Given the description of an element on the screen output the (x, y) to click on. 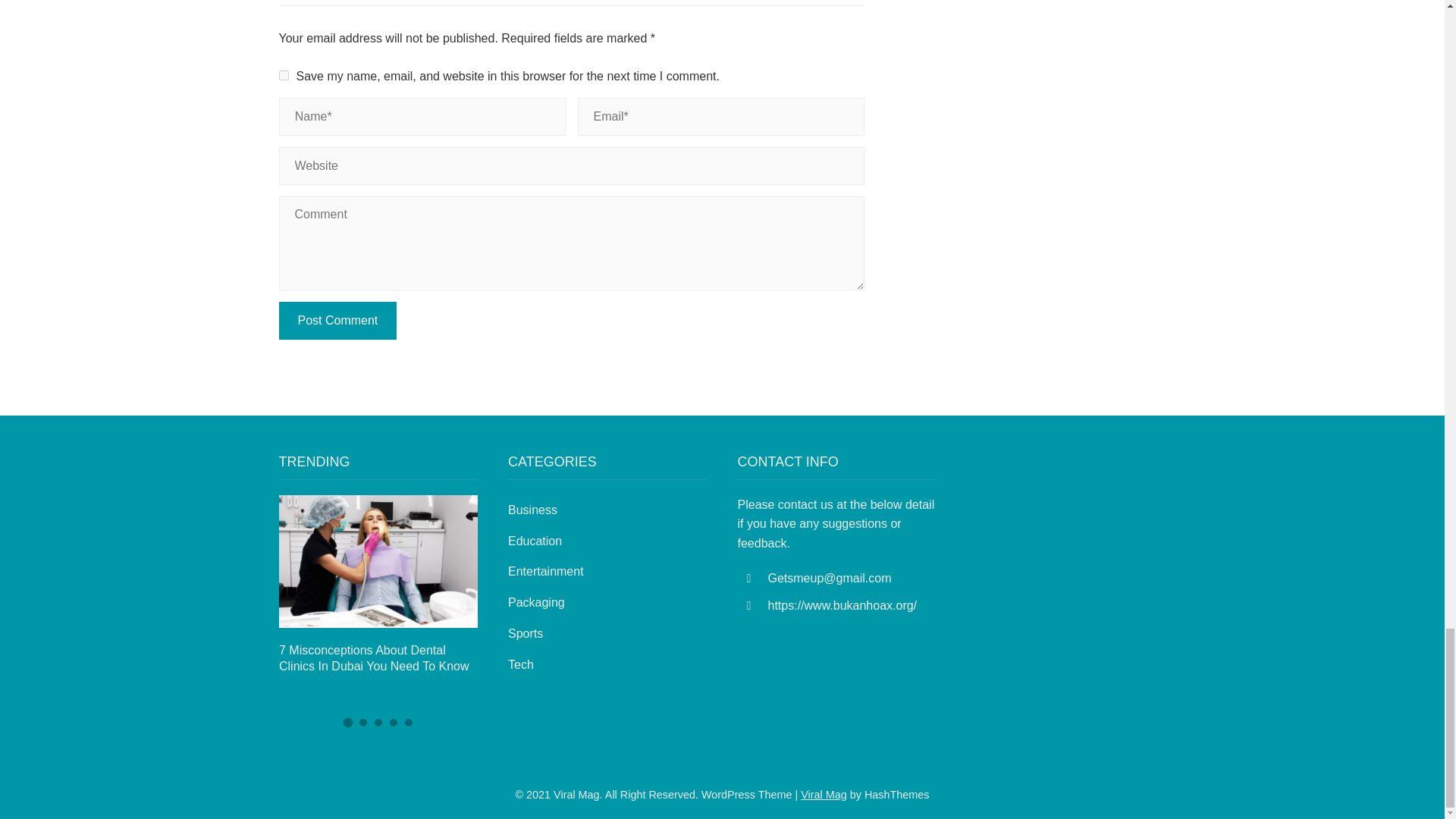
Download Viral News (823, 794)
Post Comment (338, 320)
yes (283, 75)
Post Comment (338, 320)
